Given the description of an element on the screen output the (x, y) to click on. 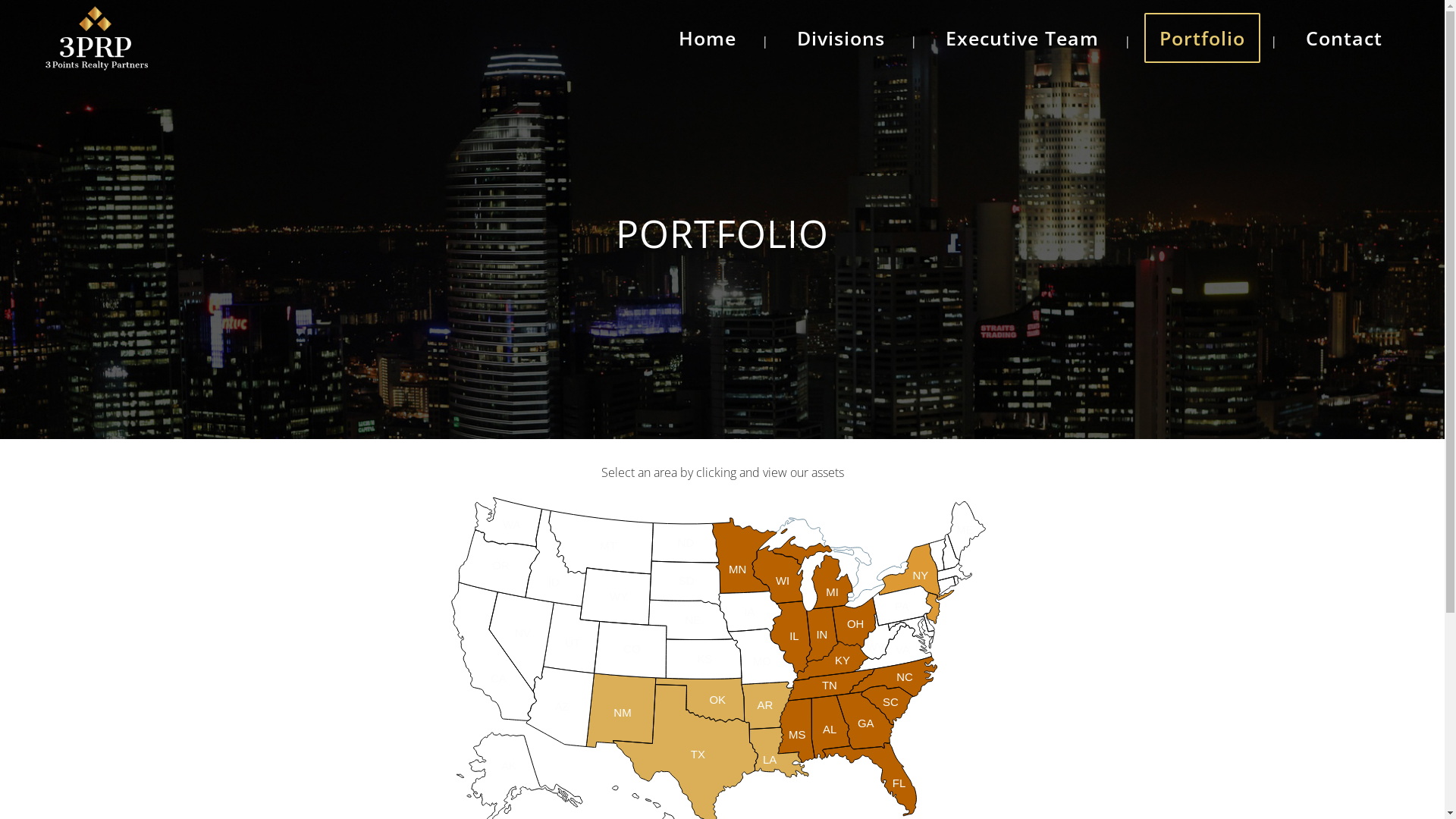
Home Element type: text (707, 37)
Website Development: Buzzz Digital Element type: text (721, 798)
Contact Element type: text (1343, 37)
Divisions Element type: text (840, 37)
andrea@3prp.com Element type: text (966, 673)
Executive Team Element type: text (1021, 37)
Portfolio Element type: text (1202, 37)
